Given the description of an element on the screen output the (x, y) to click on. 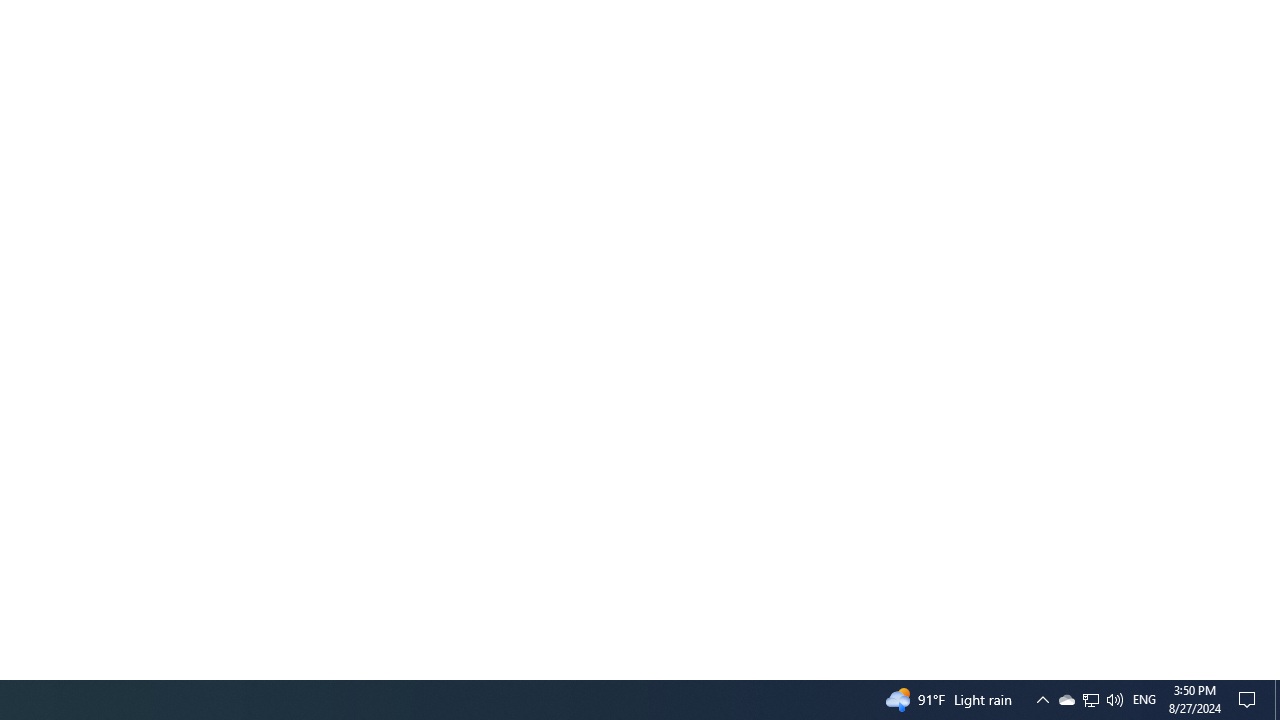
User Promoted Notification Area (1090, 699)
Q2790: 100% (1114, 699)
Notification Chevron (1042, 699)
Show desktop (1066, 699)
Action Center, No new notifications (1091, 699)
Tray Input Indicator - English (United States) (1277, 699)
